Given the description of an element on the screen output the (x, y) to click on. 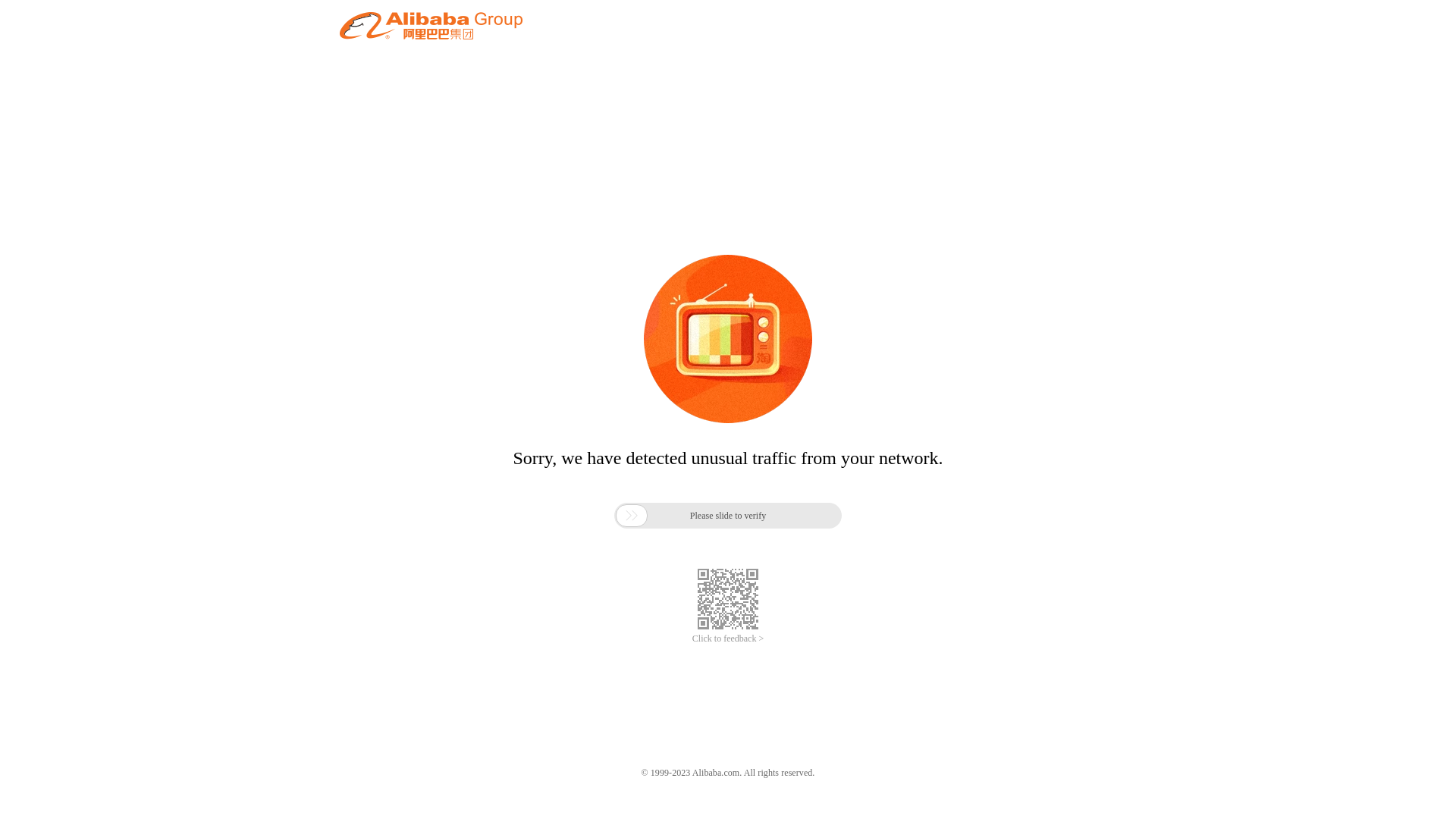
Click to feedback > Element type: text (727, 638)
